Given the description of an element on the screen output the (x, y) to click on. 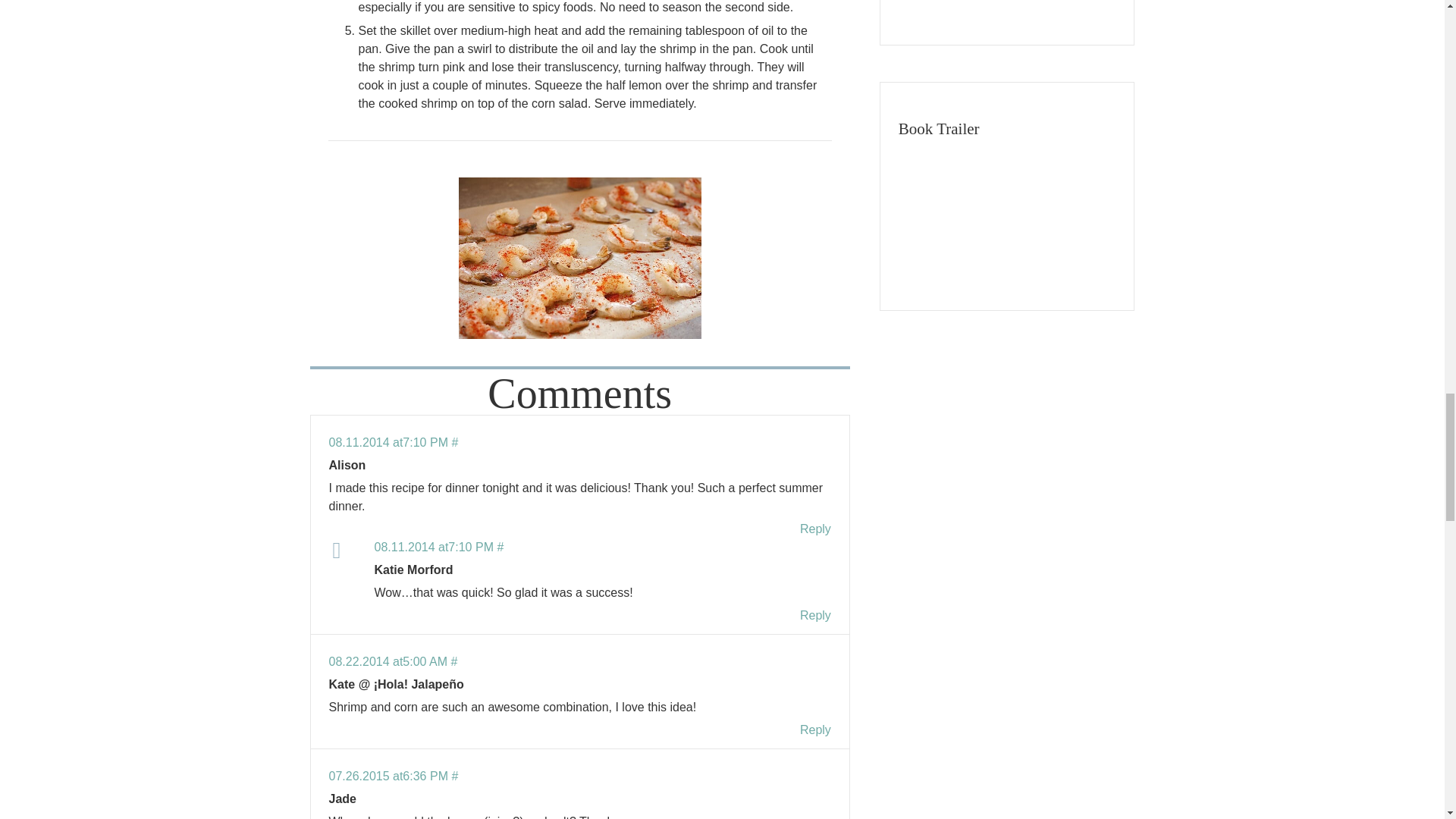
Reply (815, 729)
Direct link to this comment (393, 661)
Reply (815, 528)
Reply (815, 615)
Direct link to this comment (438, 546)
Direct link to this comment (393, 441)
